Given the description of an element on the screen output the (x, y) to click on. 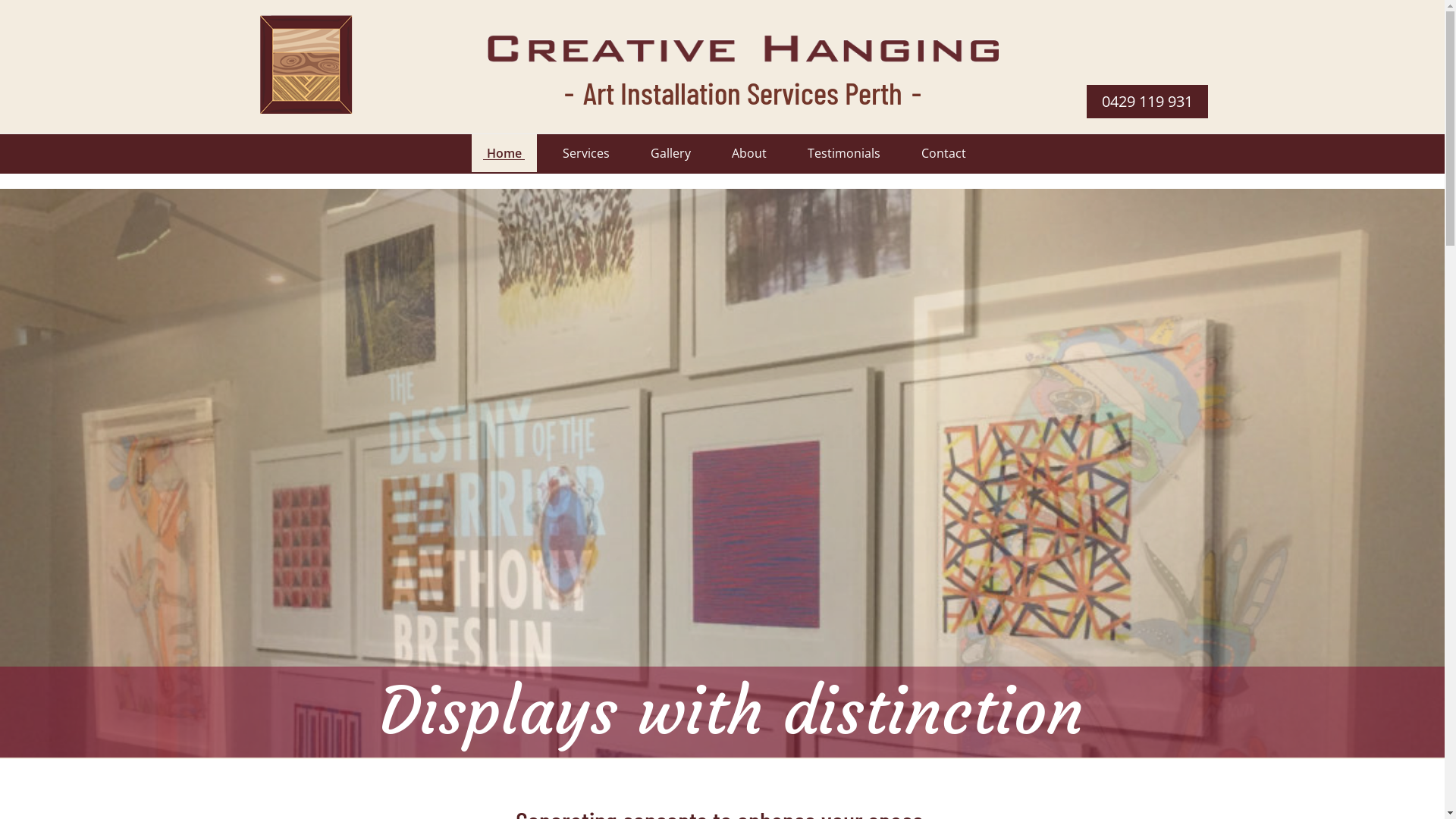
Skip to primary navigation Element type: text (0, 0)
Contact Element type: text (942, 153)
Home Element type: text (503, 153)
Gallery Element type: text (670, 153)
Testimonials Element type: text (842, 153)
CREATIVE HANGING Element type: hover (742, 40)
Art Installation Services Perth Element type: text (721, 66)
Services Element type: text (585, 153)
CREATIVE HANGING Element type: hover (306, 64)
About Element type: text (748, 153)
0429 119 931 Element type: text (1146, 101)
